Given the description of an element on the screen output the (x, y) to click on. 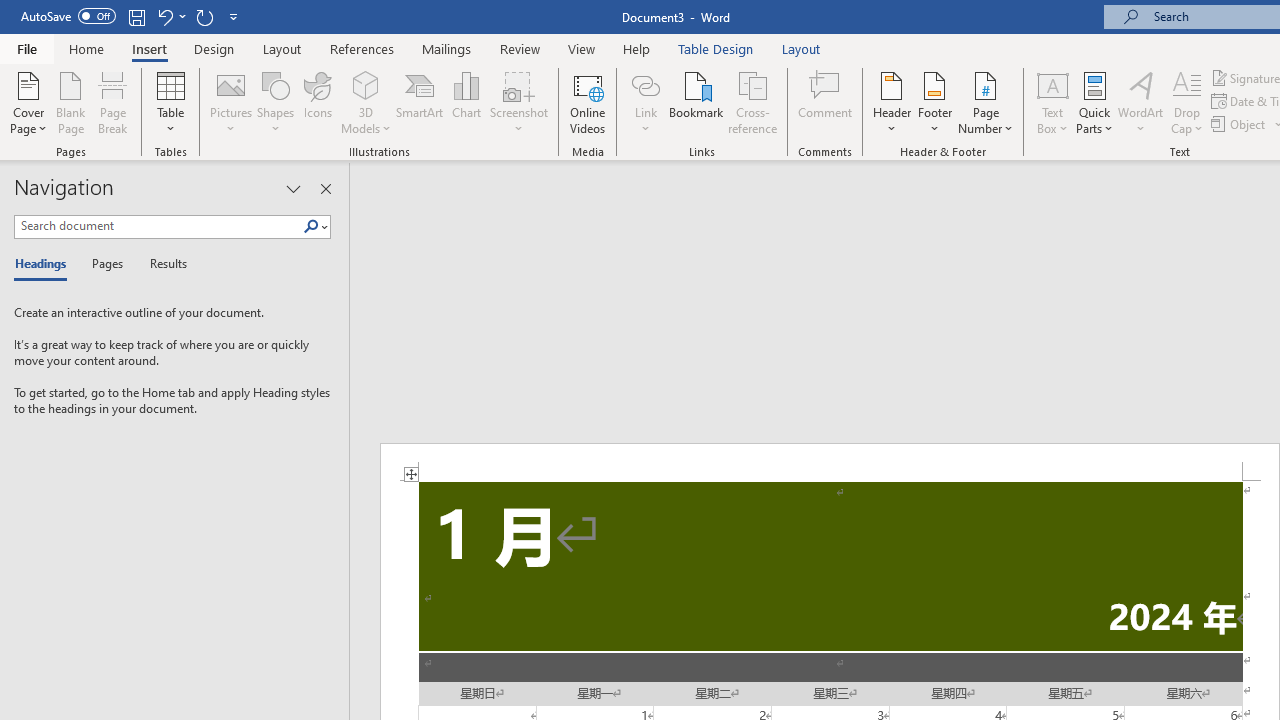
Blank Page (70, 102)
Pages (105, 264)
References (362, 48)
Object... (1240, 124)
Repeat Doc Close (204, 15)
Icons (317, 102)
Review (520, 48)
Text Box (1052, 102)
Header -Section 1- (830, 461)
Pictures (230, 102)
View (582, 48)
Task Pane Options (293, 188)
Online Videos... (588, 102)
